Given the description of an element on the screen output the (x, y) to click on. 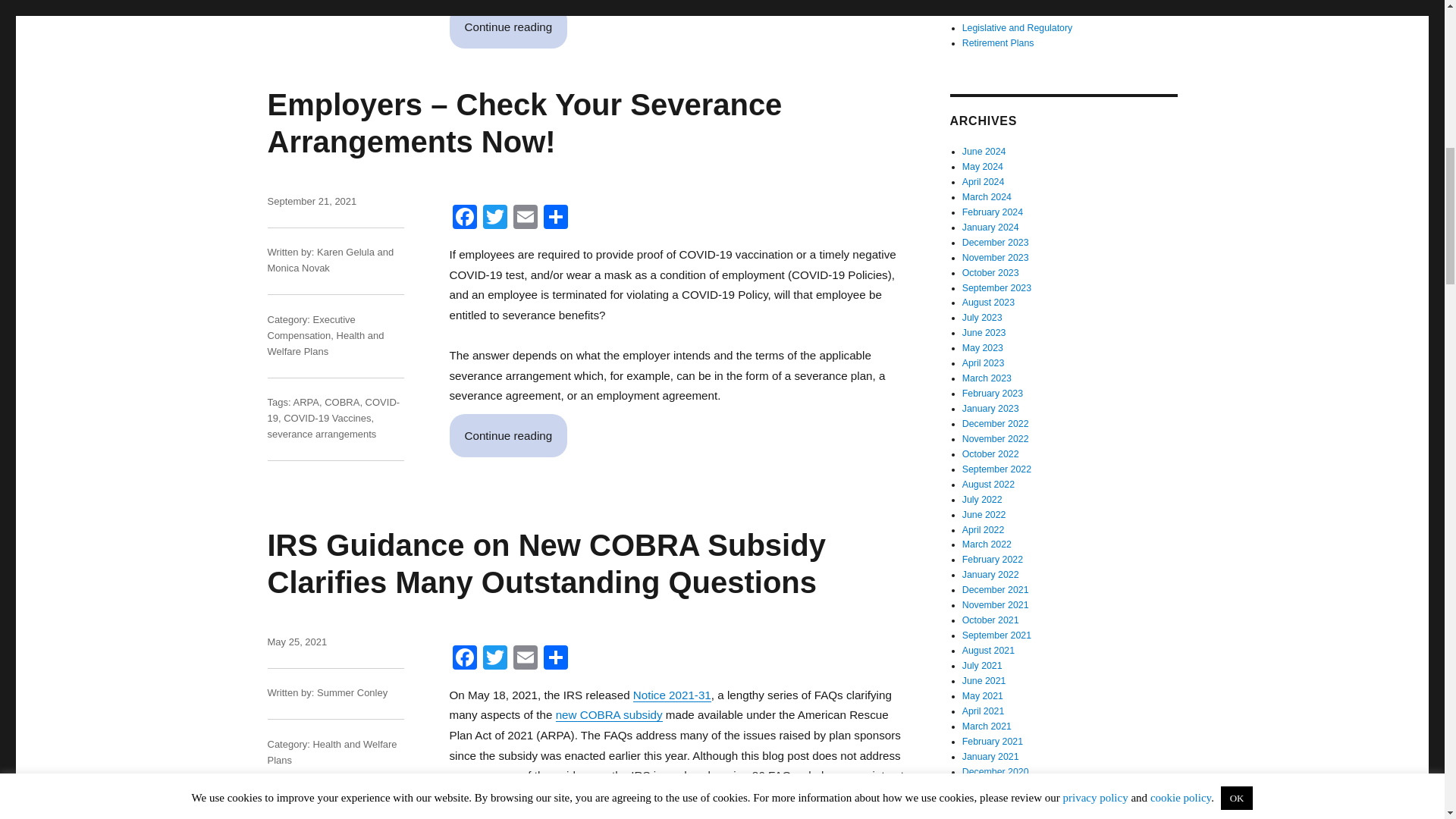
COVID-19 Vaccines (327, 418)
Facebook (463, 218)
Twitter (494, 659)
Twitter (494, 218)
Facebook (463, 659)
Posts by Monica Novak (297, 267)
Twitter (494, 659)
Posts by Karen Gelula (345, 251)
Email (524, 659)
Email (524, 218)
Health and Welfare Plans (325, 343)
Posts by Summer Conley (352, 692)
severance arrangements (320, 433)
Facebook (463, 659)
